Given the description of an element on the screen output the (x, y) to click on. 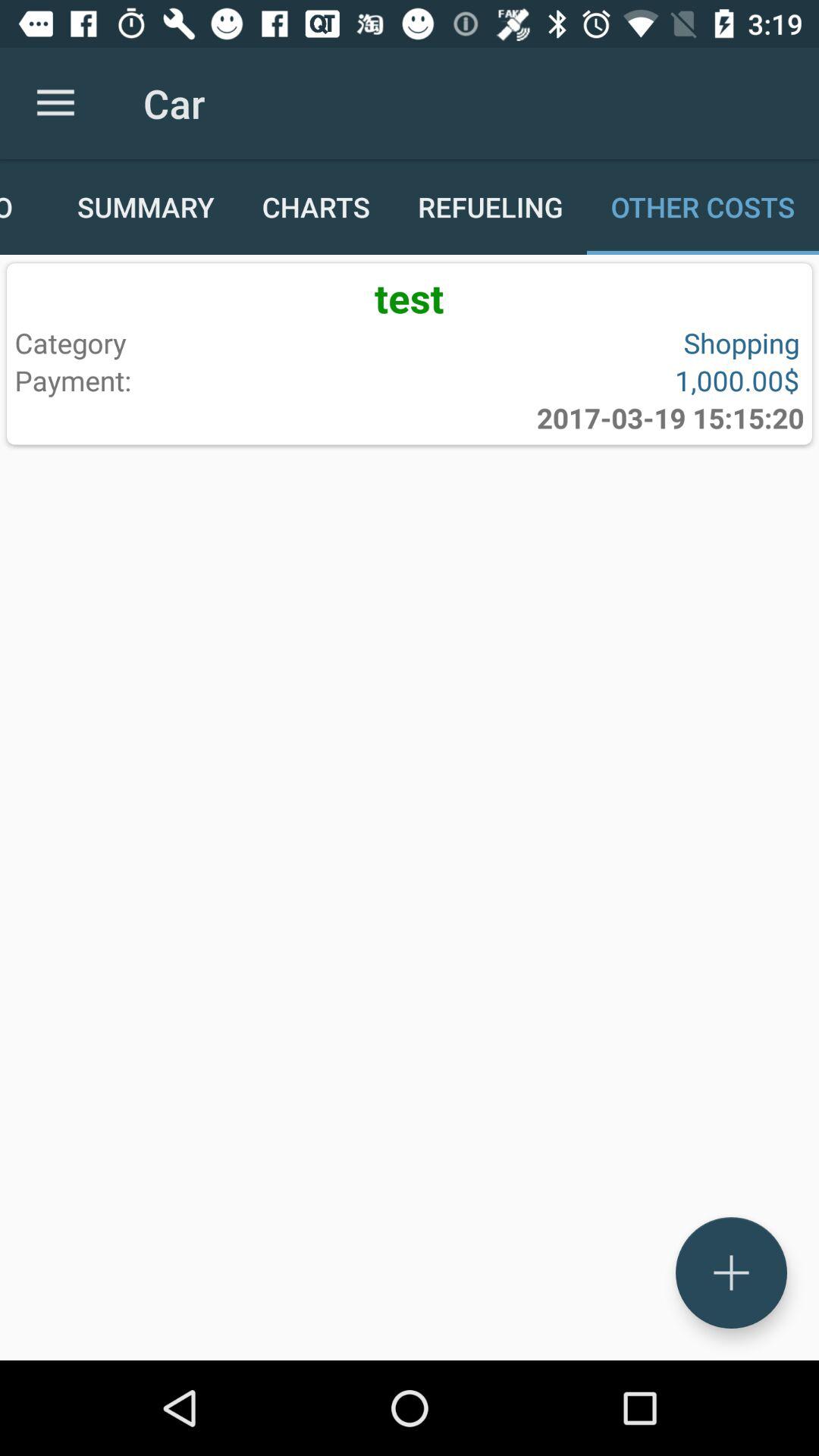
turn on the test item (409, 297)
